Given the description of an element on the screen output the (x, y) to click on. 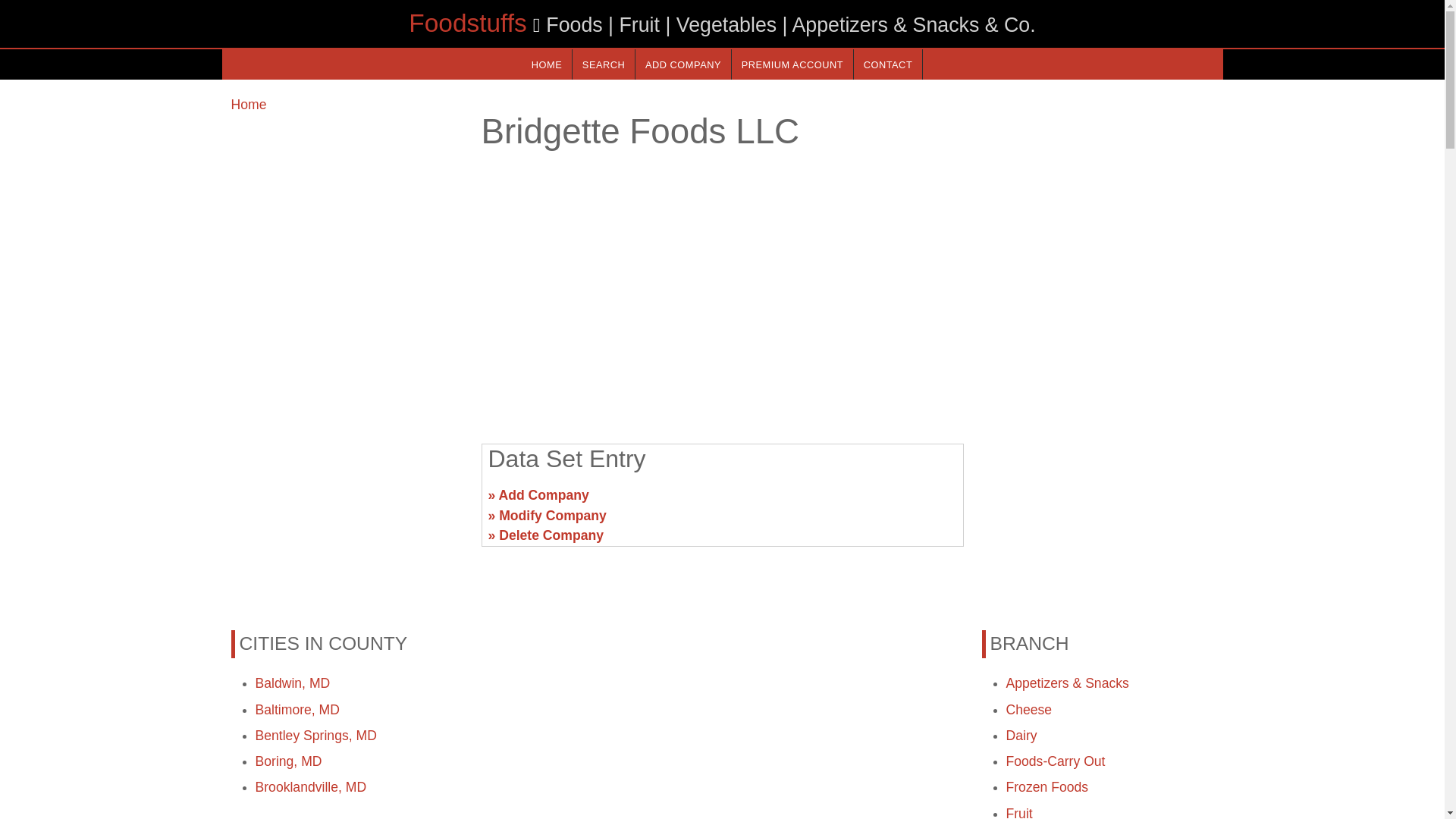
Home (248, 104)
Add a new company (682, 64)
Dairy (1021, 735)
Brooklandville, MD (310, 786)
Premium account (792, 64)
Foodstuffs (467, 22)
Bentley Springs, MD (314, 735)
PREMIUM ACCOUNT (792, 64)
HOME (546, 64)
